Given the description of an element on the screen output the (x, y) to click on. 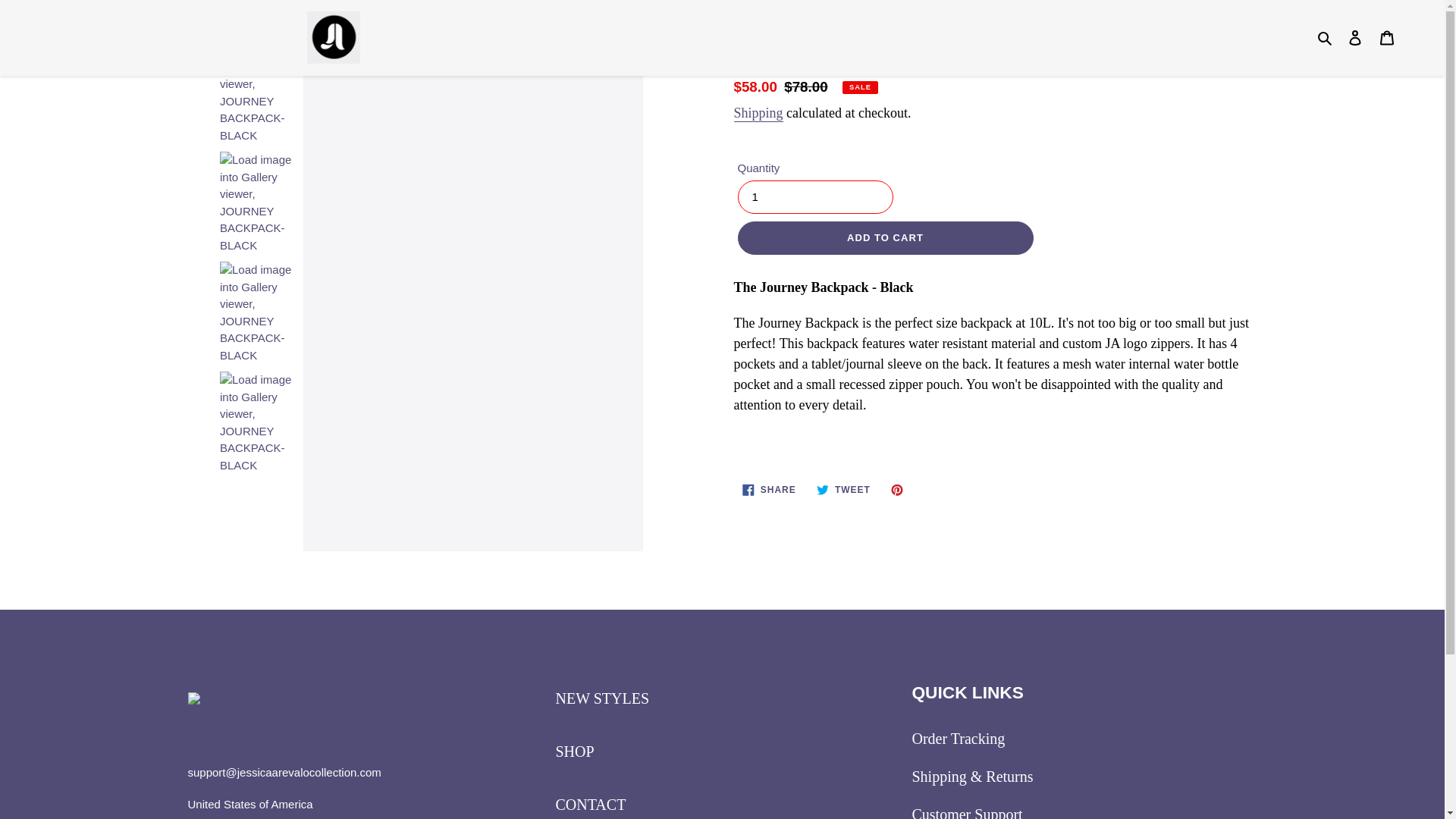
SHOP (574, 751)
Order Tracking (957, 738)
Cart (843, 489)
PIN ON PINTEREST (1387, 37)
Shipping (899, 489)
1 (758, 113)
Log in (814, 196)
CONTACT (1355, 37)
